Given the description of an element on the screen output the (x, y) to click on. 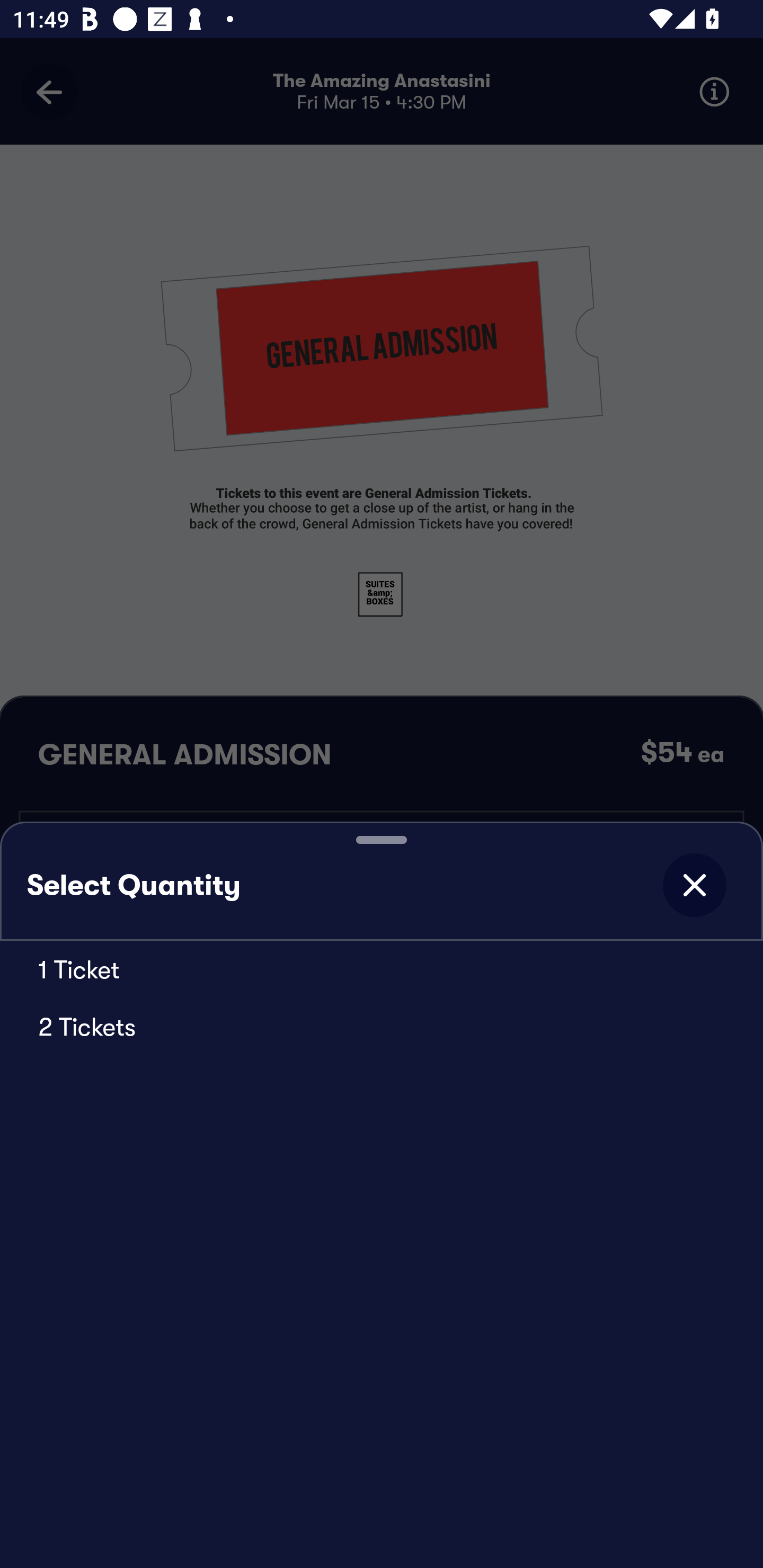
close (694, 884)
1 Ticket (381, 968)
2 Tickets (381, 1026)
